Given the description of an element on the screen output the (x, y) to click on. 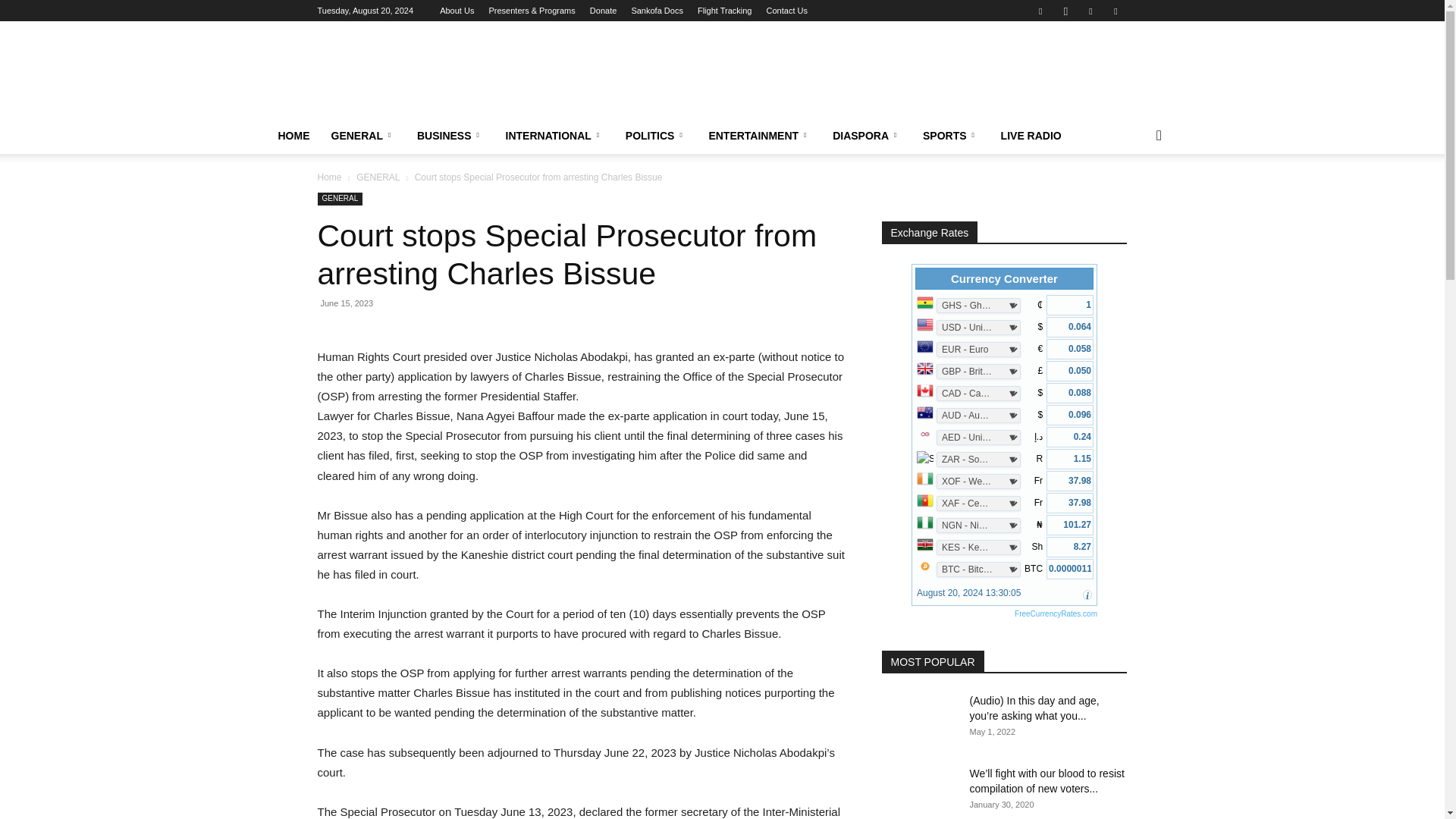
Facebook (1040, 10)
37.98 (1069, 480)
Contact Us (787, 10)
1 (1069, 304)
101.27 (1069, 525)
HOME (293, 135)
0.24 (1069, 436)
1.15 (1069, 458)
0.050 (1069, 371)
Sankofa Docs (656, 10)
